Given the description of an element on the screen output the (x, y) to click on. 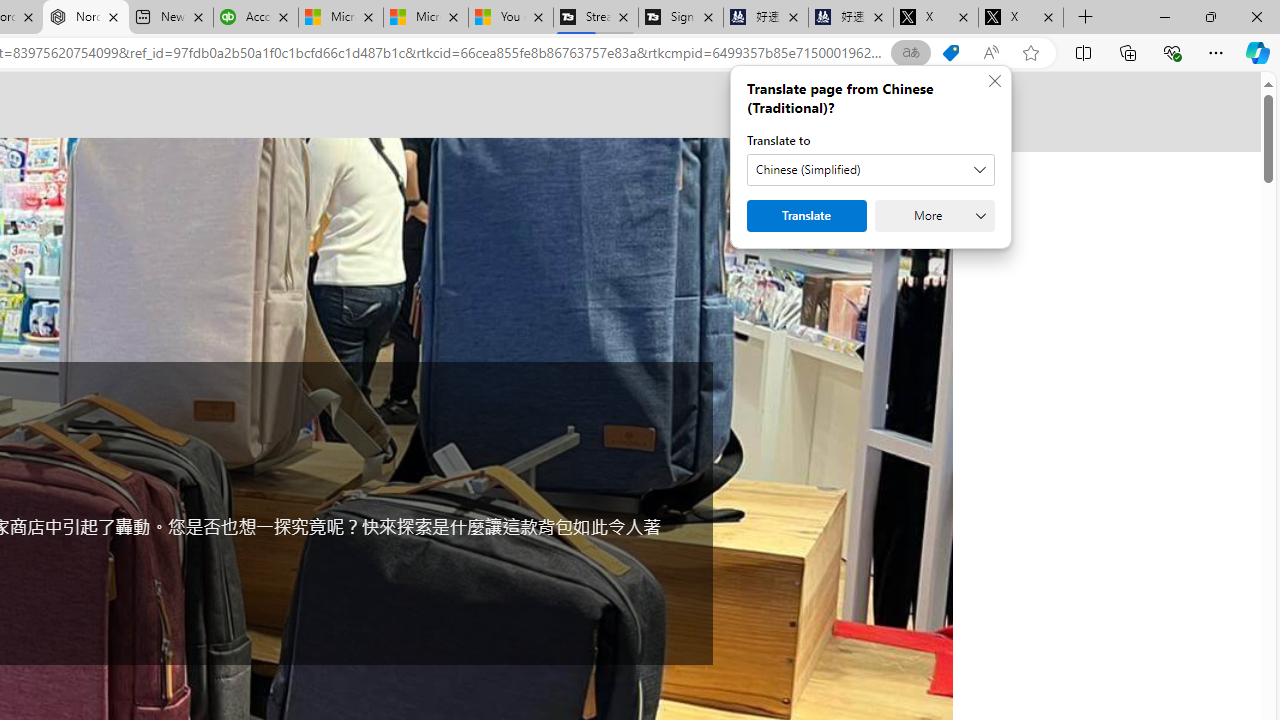
More (934, 215)
Translate to (870, 169)
Accounting Software for Accountants, CPAs and Bookkeepers (255, 17)
This site has coupons! Shopping in Microsoft Edge (950, 53)
Streaming Coverage | T3 (595, 17)
